Given the description of an element on the screen output the (x, y) to click on. 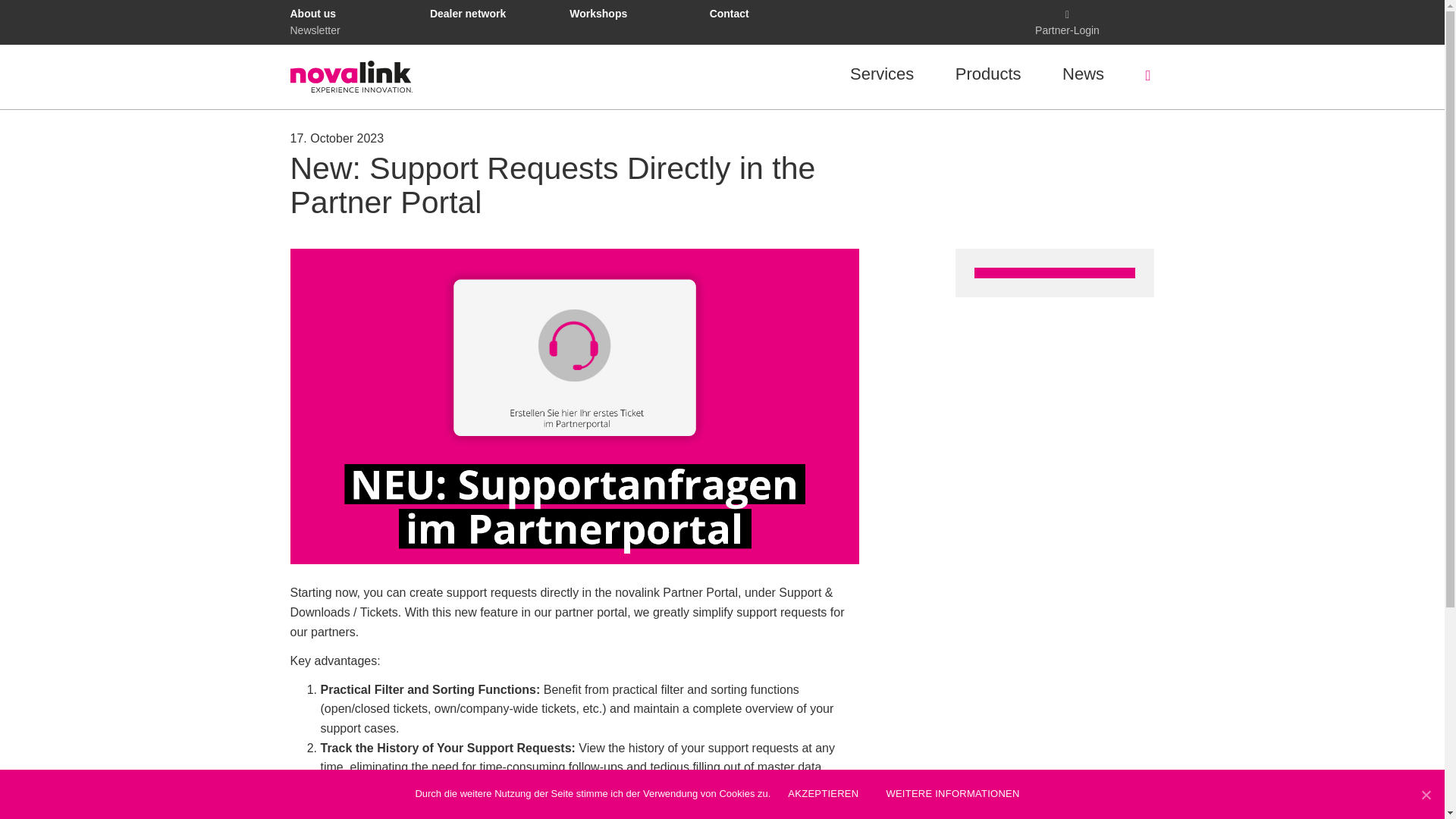
Products (988, 73)
Services (882, 73)
News (1082, 73)
Contact (729, 13)
About us (312, 13)
Dealer network (467, 13)
Newsletter (314, 30)
Workshops (598, 13)
Partner-Login (1067, 19)
